Given the description of an element on the screen output the (x, y) to click on. 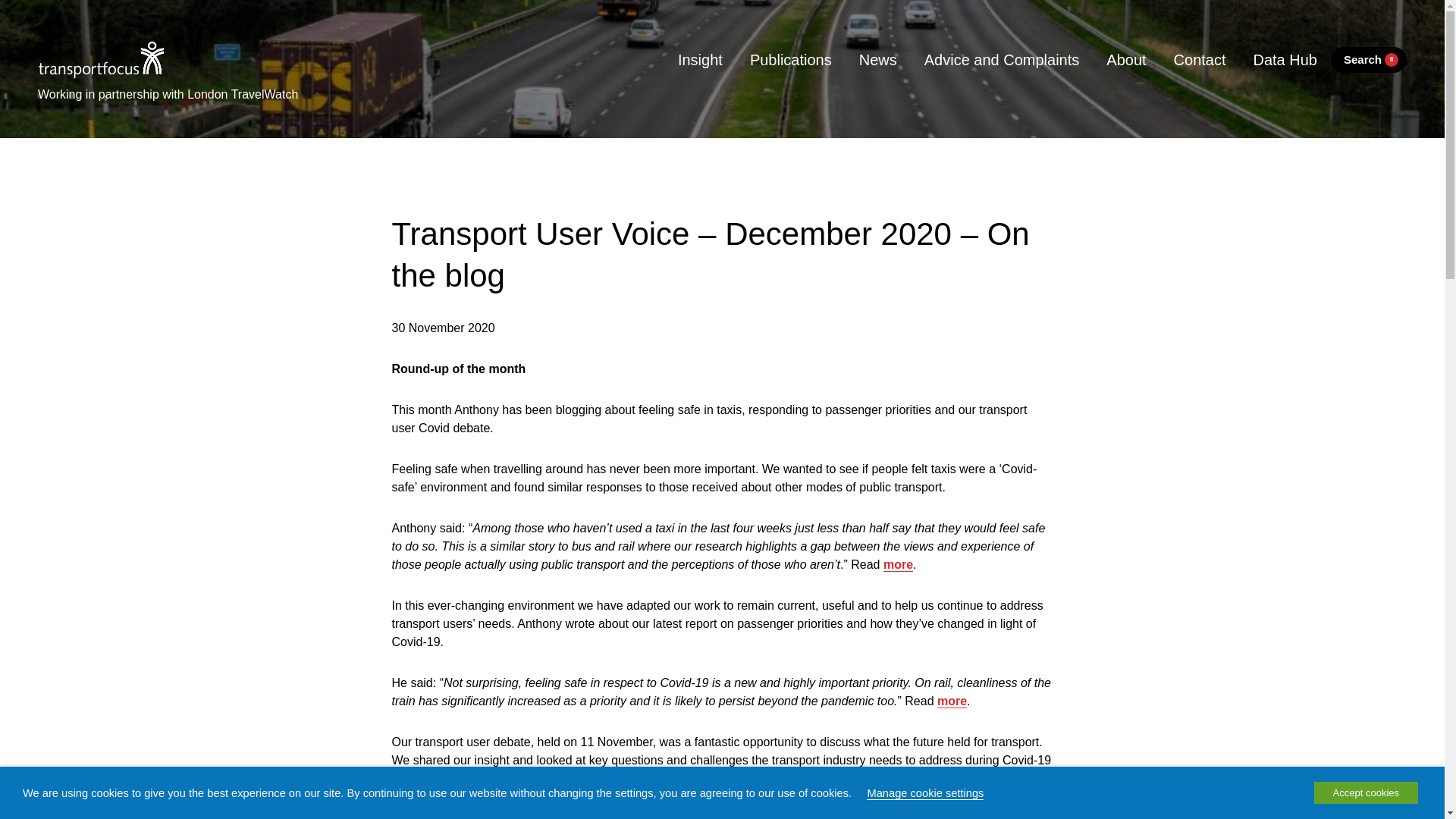
more (951, 701)
Publications (790, 59)
About (1125, 59)
more (897, 564)
Insight (699, 59)
Data Hub (1284, 59)
Contact (1200, 59)
News (878, 59)
Search (1368, 59)
Advice and Complaints (1002, 59)
